Given the description of an element on the screen output the (x, y) to click on. 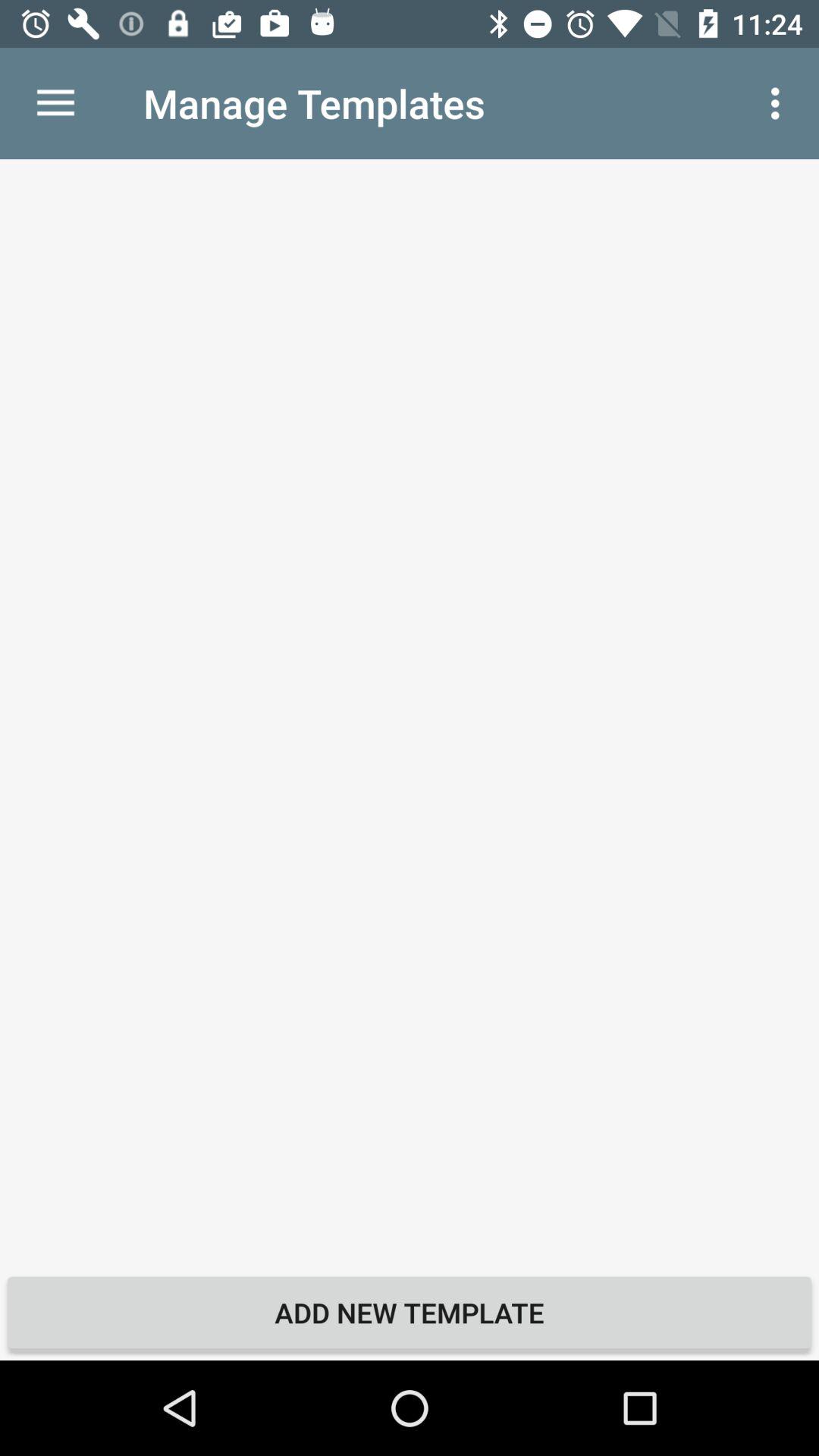
turn on icon above add new template (409, 711)
